Given the description of an element on the screen output the (x, y) to click on. 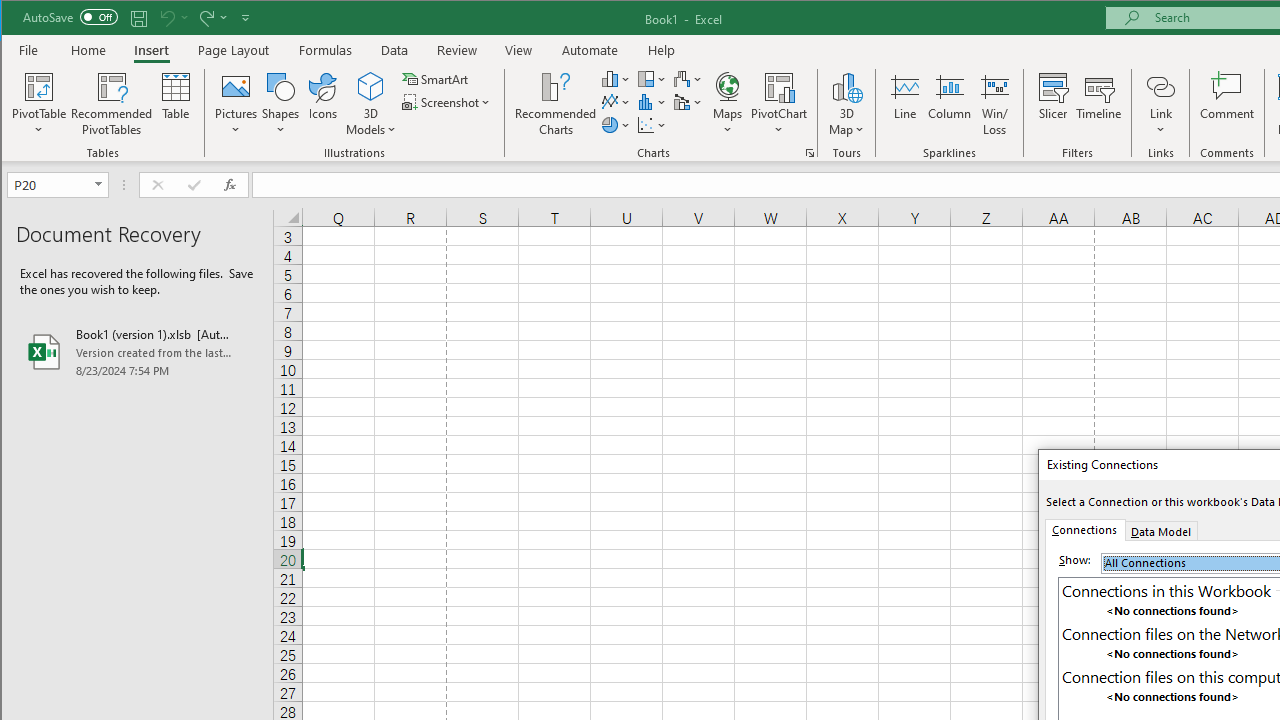
Insert Line or Area Chart (616, 101)
Shapes (280, 104)
Recommended Charts (809, 152)
Win/Loss (995, 104)
Link (1160, 104)
Pictures (235, 104)
